Given the description of an element on the screen output the (x, y) to click on. 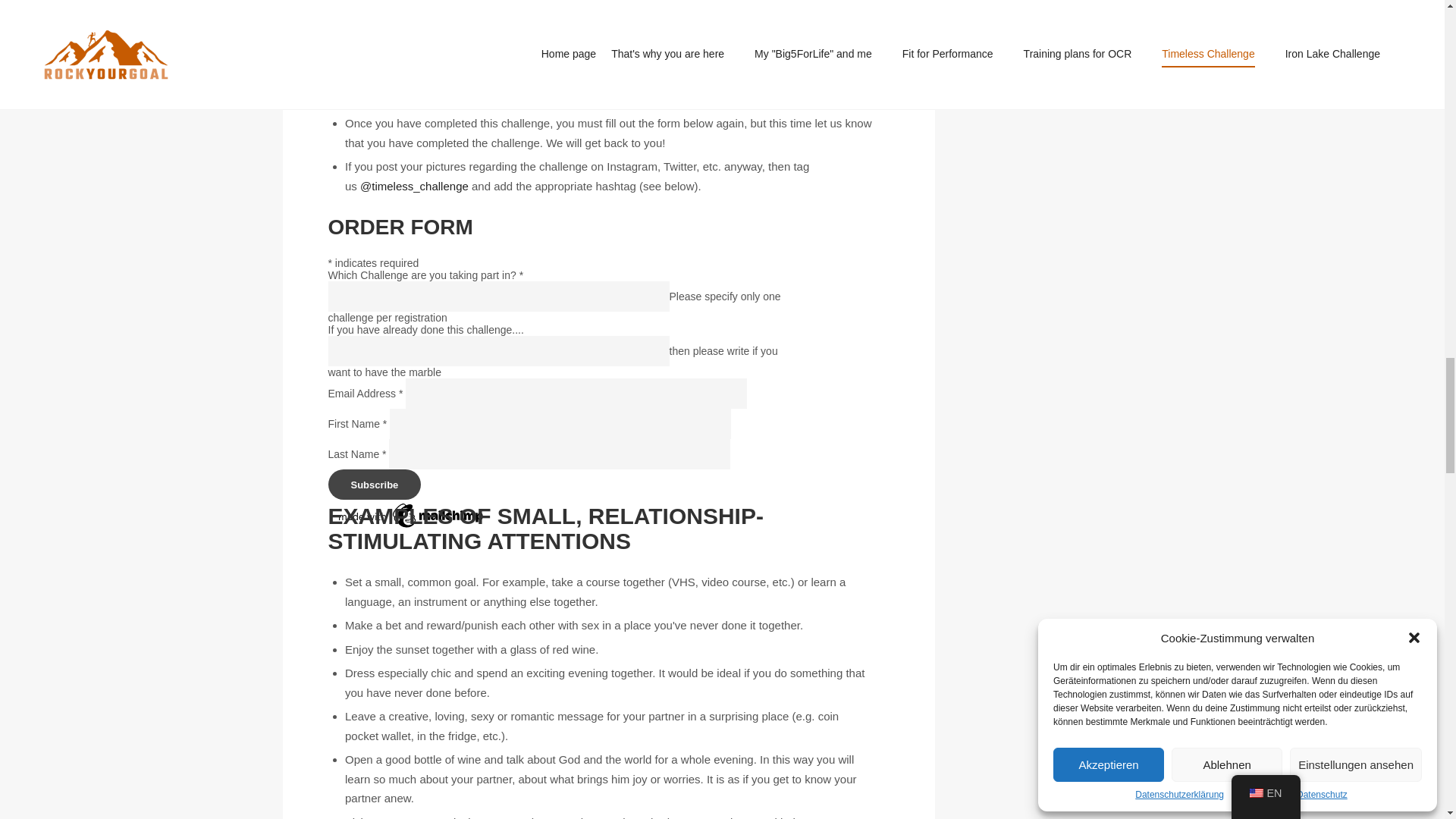
Subscribe (373, 484)
